Given the description of an element on the screen output the (x, y) to click on. 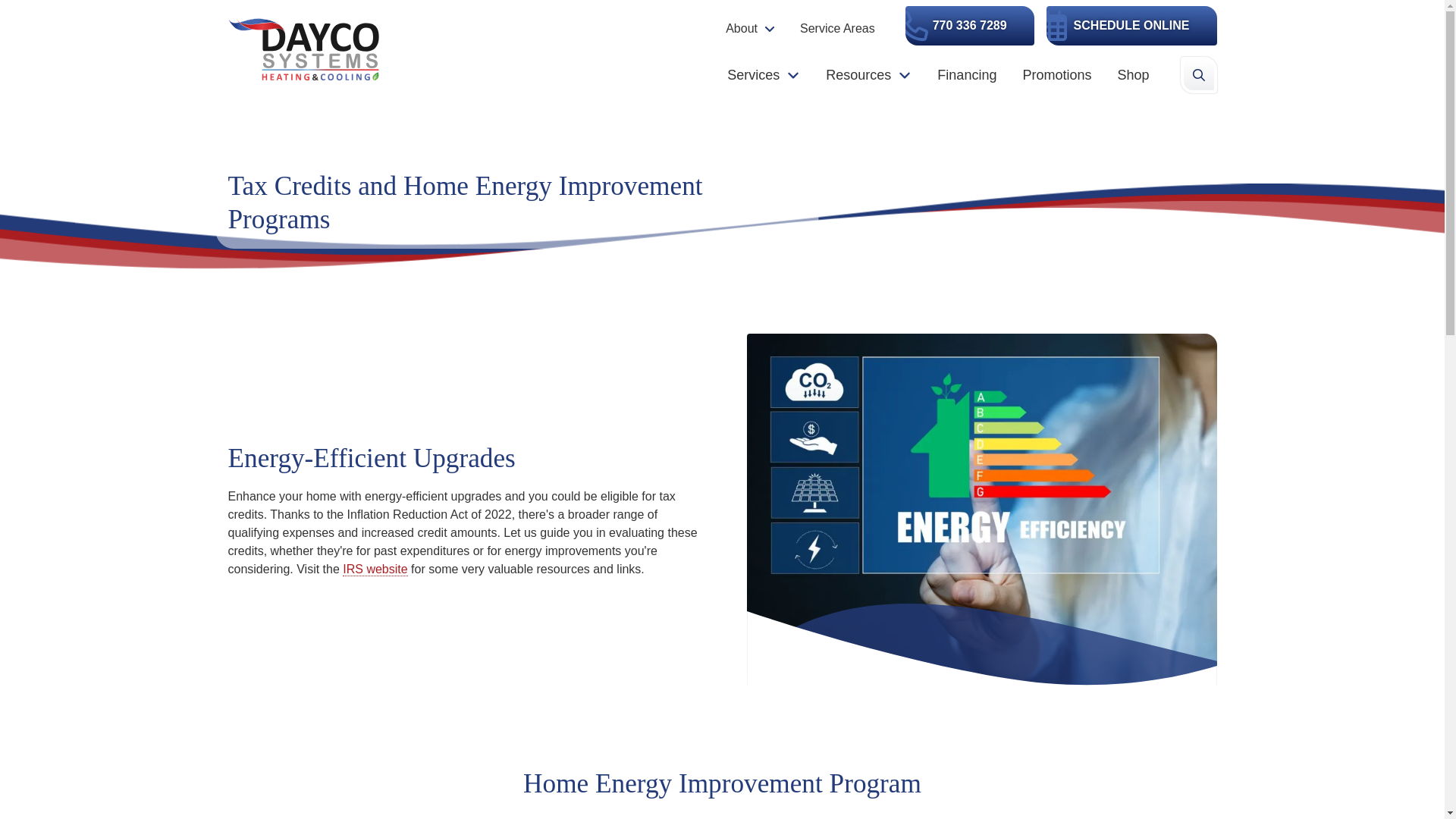
Shop (1132, 74)
SCHEDULE ONLINE (1131, 25)
Resources (868, 74)
Service Areas (836, 28)
Show Search (1197, 74)
About (750, 28)
IRS website (374, 569)
Financing (966, 74)
Services (763, 74)
Promotions (1055, 74)
